Given the description of an element on the screen output the (x, y) to click on. 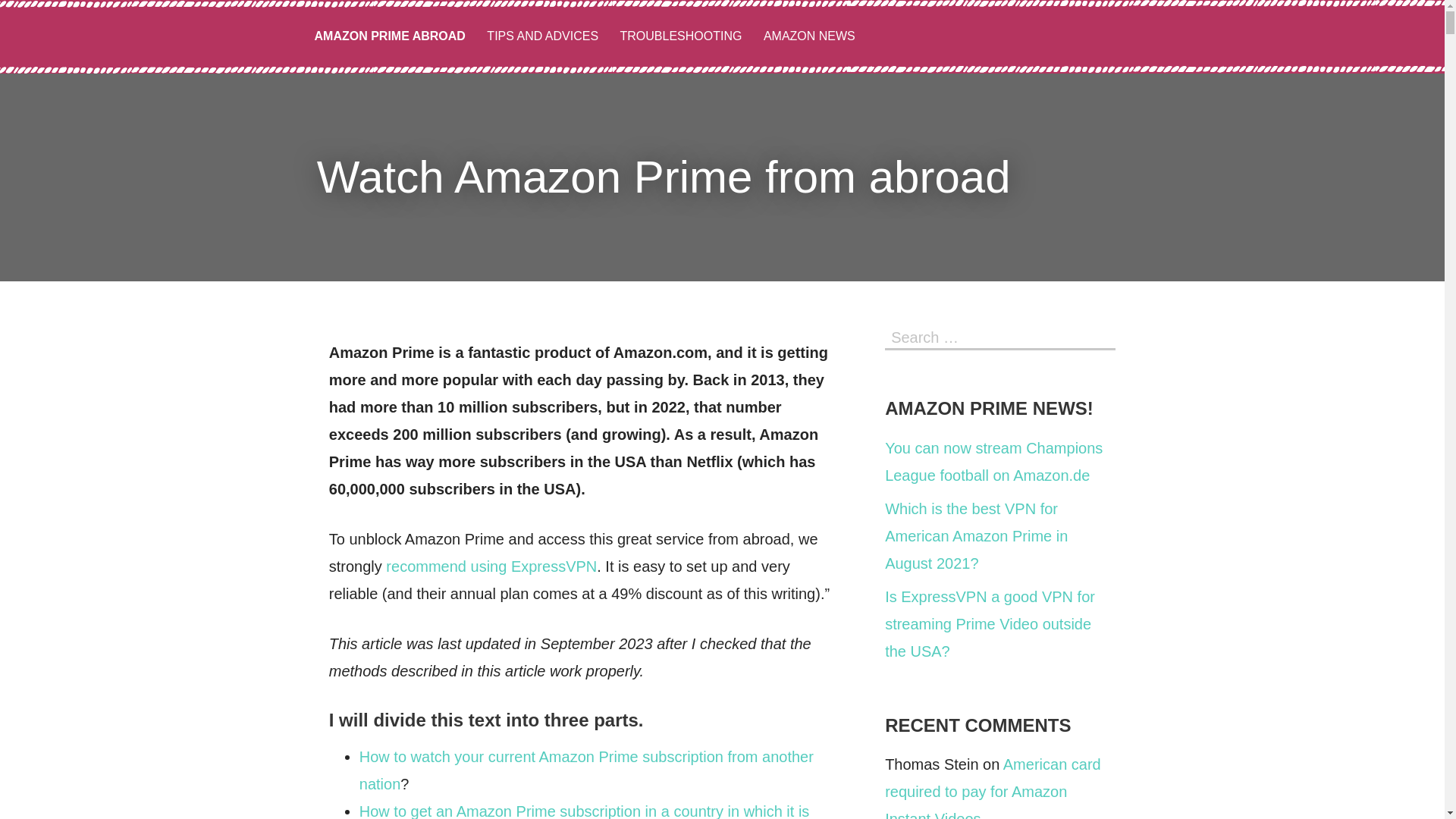
TIPS AND ADVICES (542, 36)
AMAZON NEWS (809, 36)
recommend using ExpressVPN (490, 565)
Search (1099, 335)
TROUBLESHOOTING (681, 36)
AMAZON PRIME ABROAD (389, 36)
Search (1099, 335)
